Given the description of an element on the screen output the (x, y) to click on. 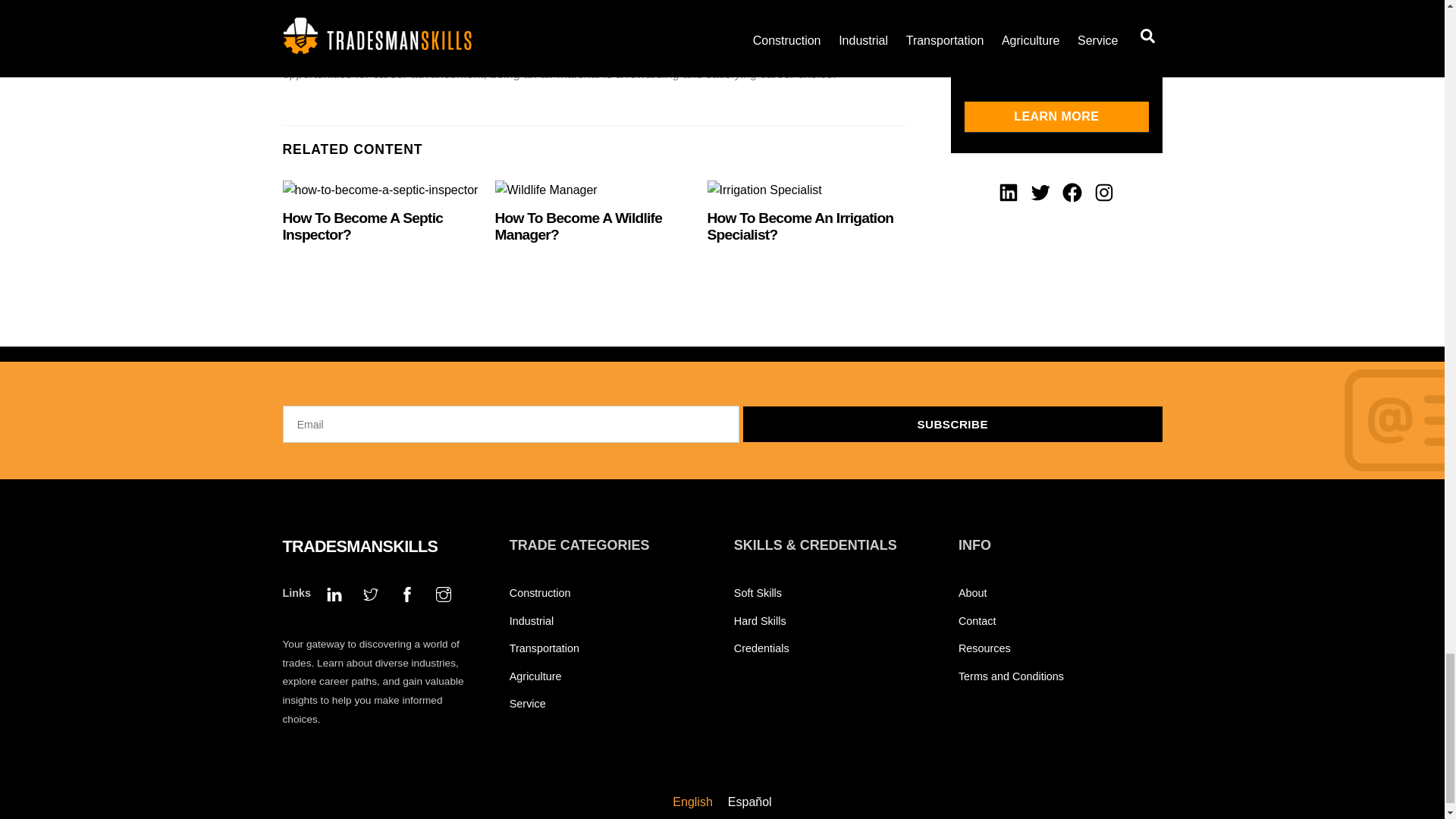
TRADESMANSKILLS (360, 546)
How To Become An Irrigation Specialist? (800, 225)
SUBSCRIBE (951, 424)
How To Become A Wildlife Manager? (578, 225)
TradesmanSkills (360, 546)
How To Become A Septic Inspector? (362, 225)
how-to-become-a-septic-inspector (379, 189)
irrigation specialist (764, 189)
wildlife manager (545, 189)
